Given the description of an element on the screen output the (x, y) to click on. 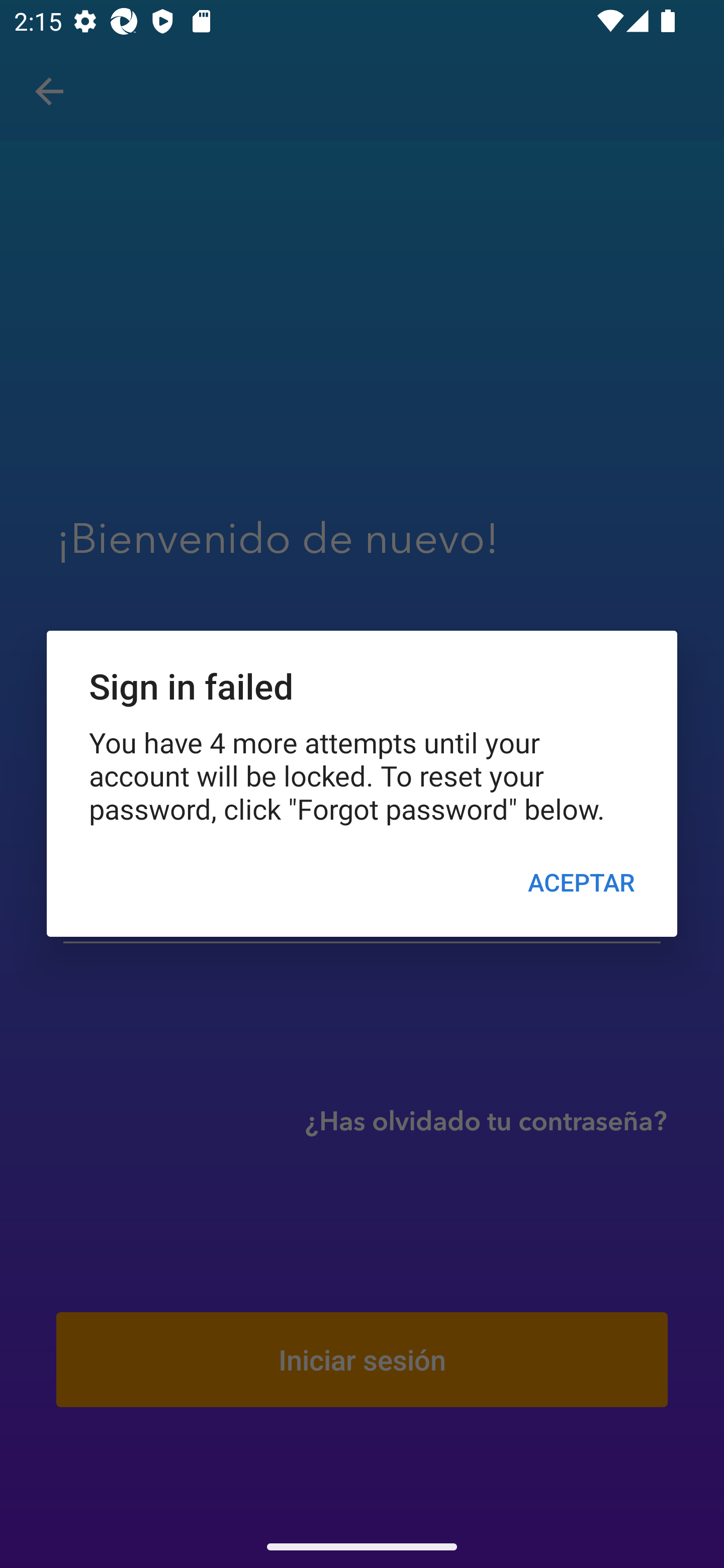
ACEPTAR (580, 881)
